Given the description of an element on the screen output the (x, y) to click on. 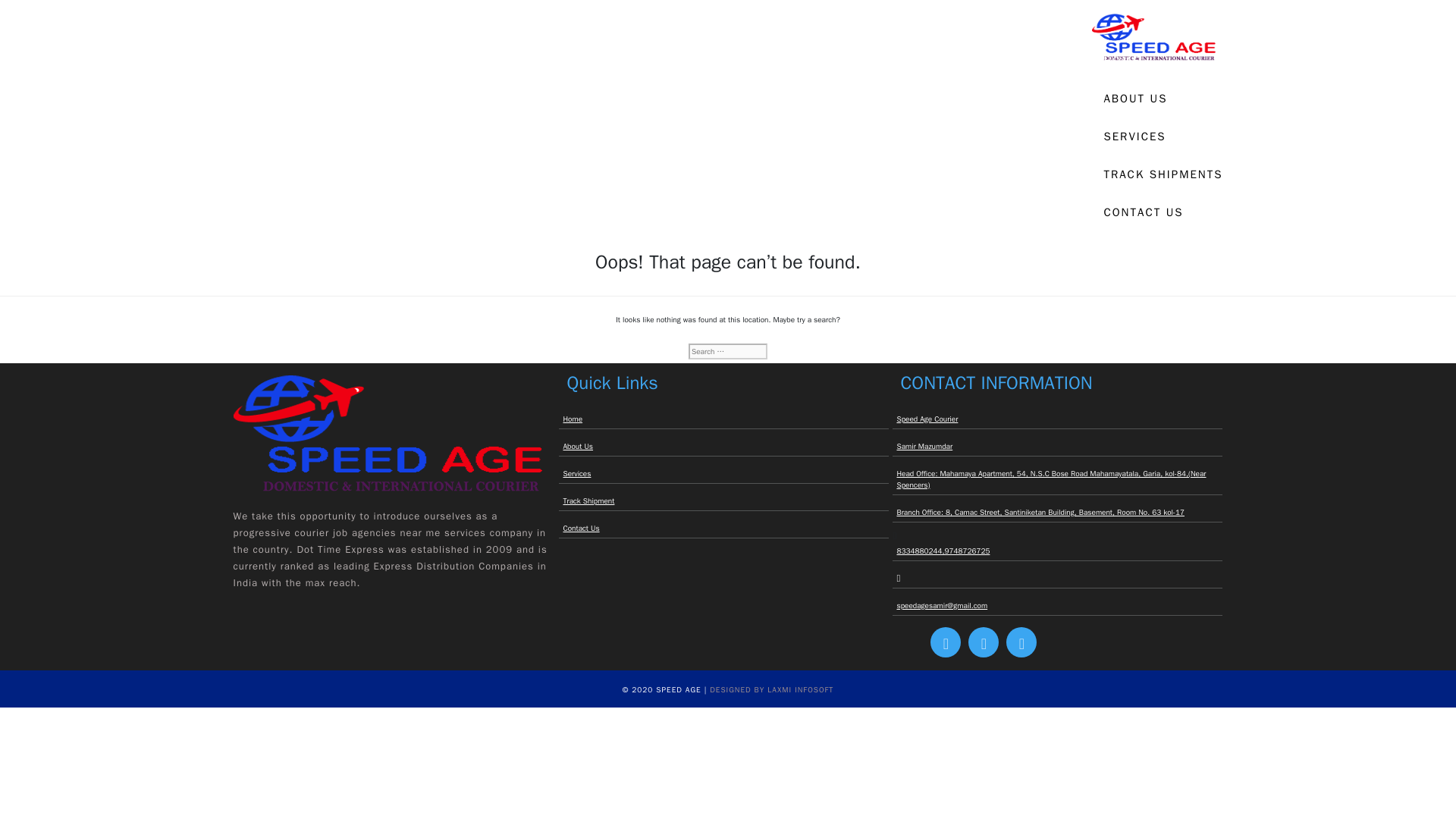
CONTACT US (1162, 211)
Contact Us (723, 528)
Track Shipment (723, 501)
About Us (723, 446)
Speed Age Courier (1057, 419)
ABOUT US (1162, 98)
